Given the description of an element on the screen output the (x, y) to click on. 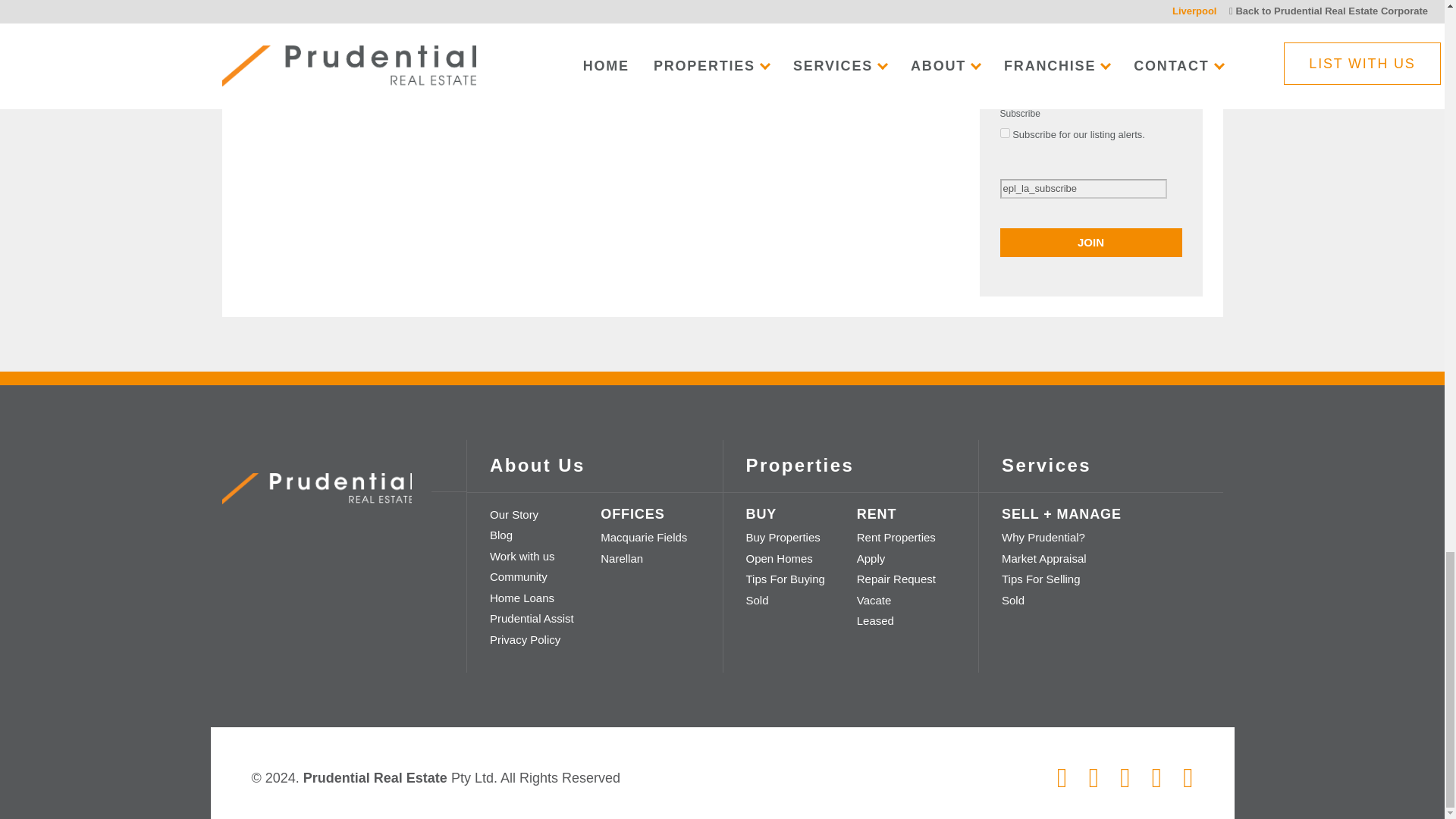
Join (1089, 242)
1 (1003, 132)
